Given the description of an element on the screen output the (x, y) to click on. 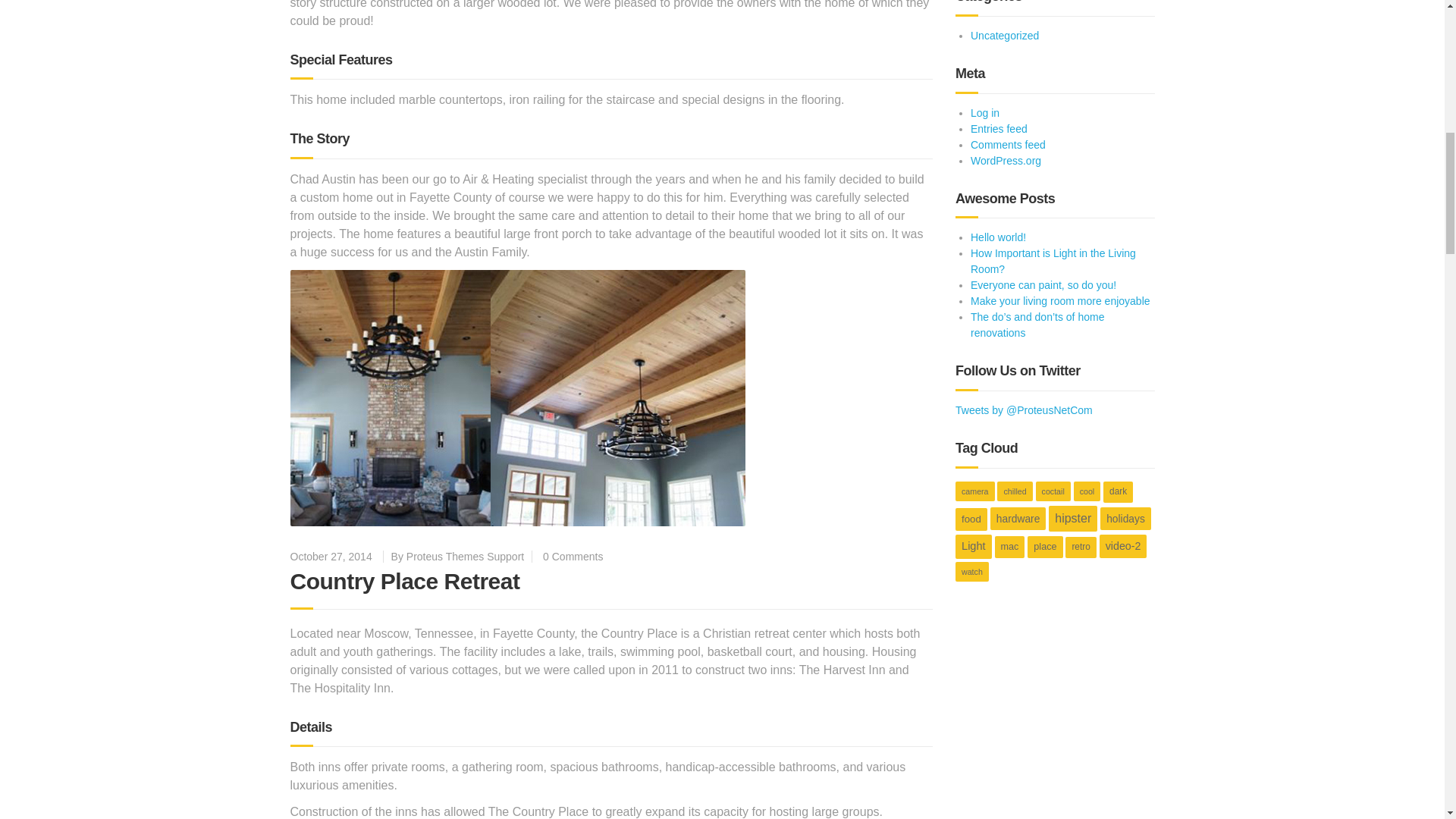
Country Place Retreat (404, 580)
0 Comments (572, 556)
